Given the description of an element on the screen output the (x, y) to click on. 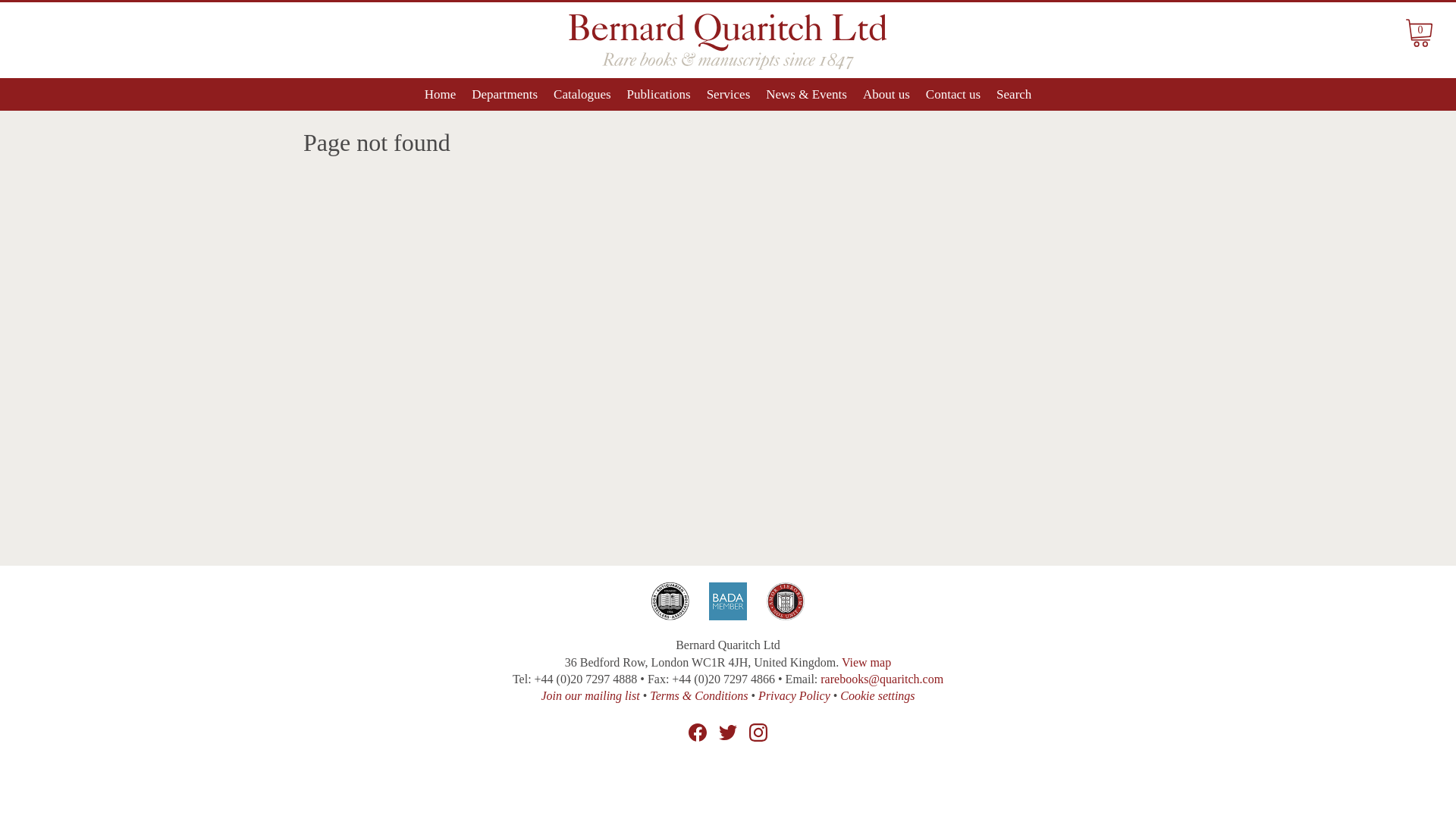
Join our mailing list (589, 695)
Search (1014, 93)
View map (866, 662)
Cookie settings (877, 695)
Privacy Policy (793, 695)
Services (728, 93)
Home (440, 93)
About us (885, 93)
Catalogues (582, 93)
Departments (504, 93)
Publications (658, 93)
Contact us (952, 93)
0 (1418, 32)
